Given the description of an element on the screen output the (x, y) to click on. 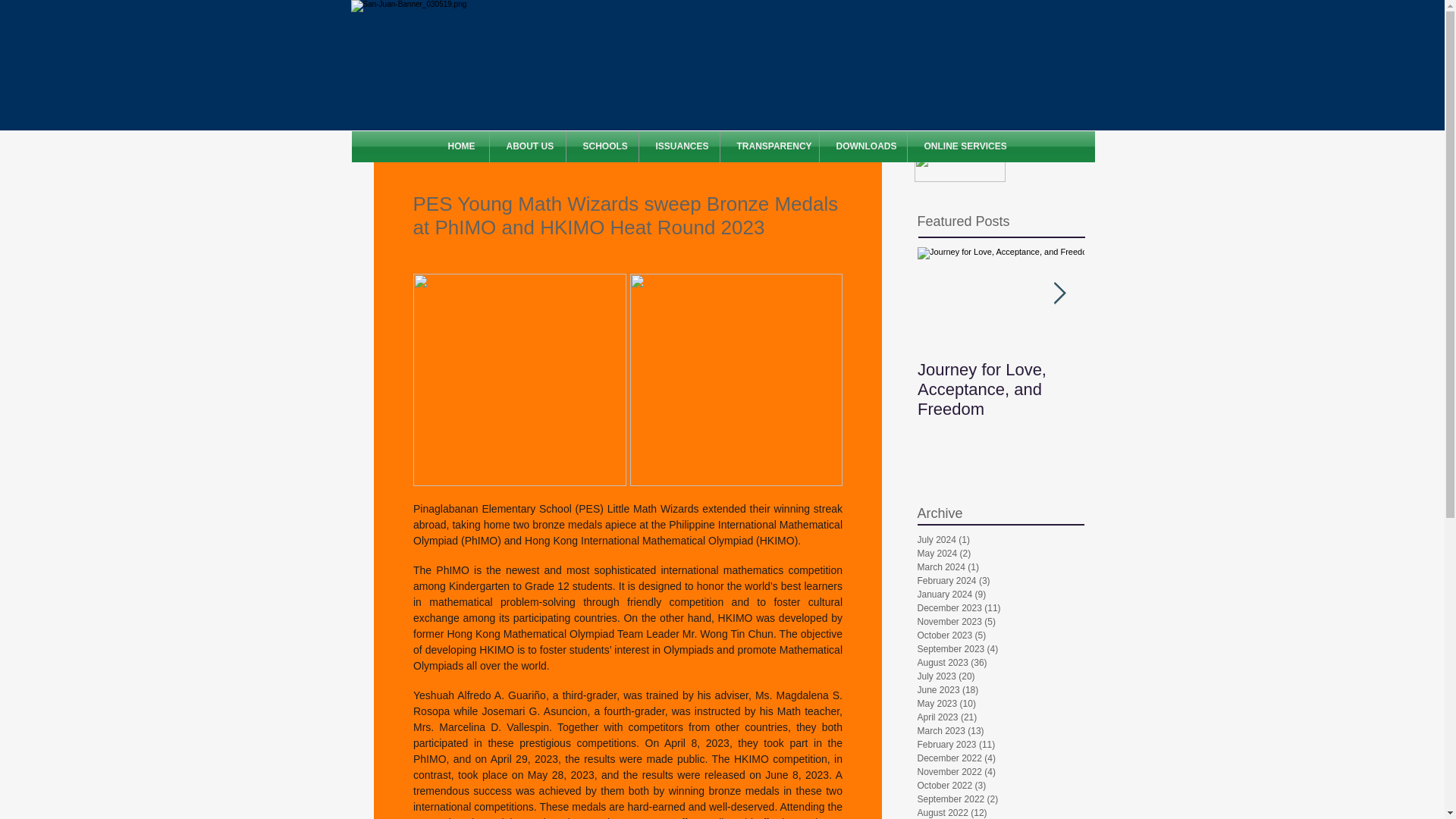
Journey for Love, Acceptance, and Freedom (1000, 389)
ABOUT US (527, 146)
HOME (458, 146)
The Father of SJES: Knowing Sir Lloyd Tulaylay (1167, 389)
